Given the description of an element on the screen output the (x, y) to click on. 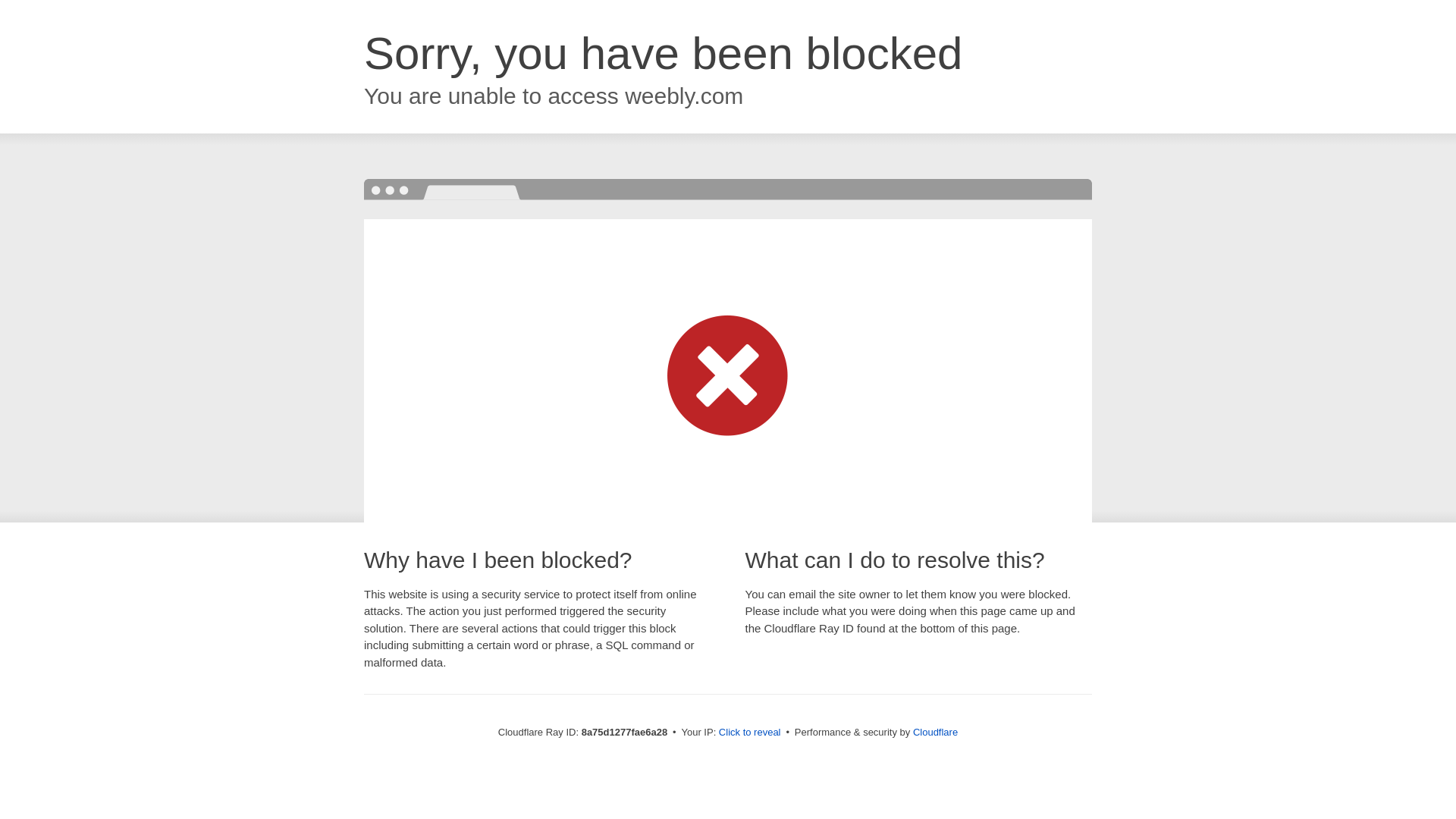
Click to reveal (749, 732)
Cloudflare (935, 731)
